Given the description of an element on the screen output the (x, y) to click on. 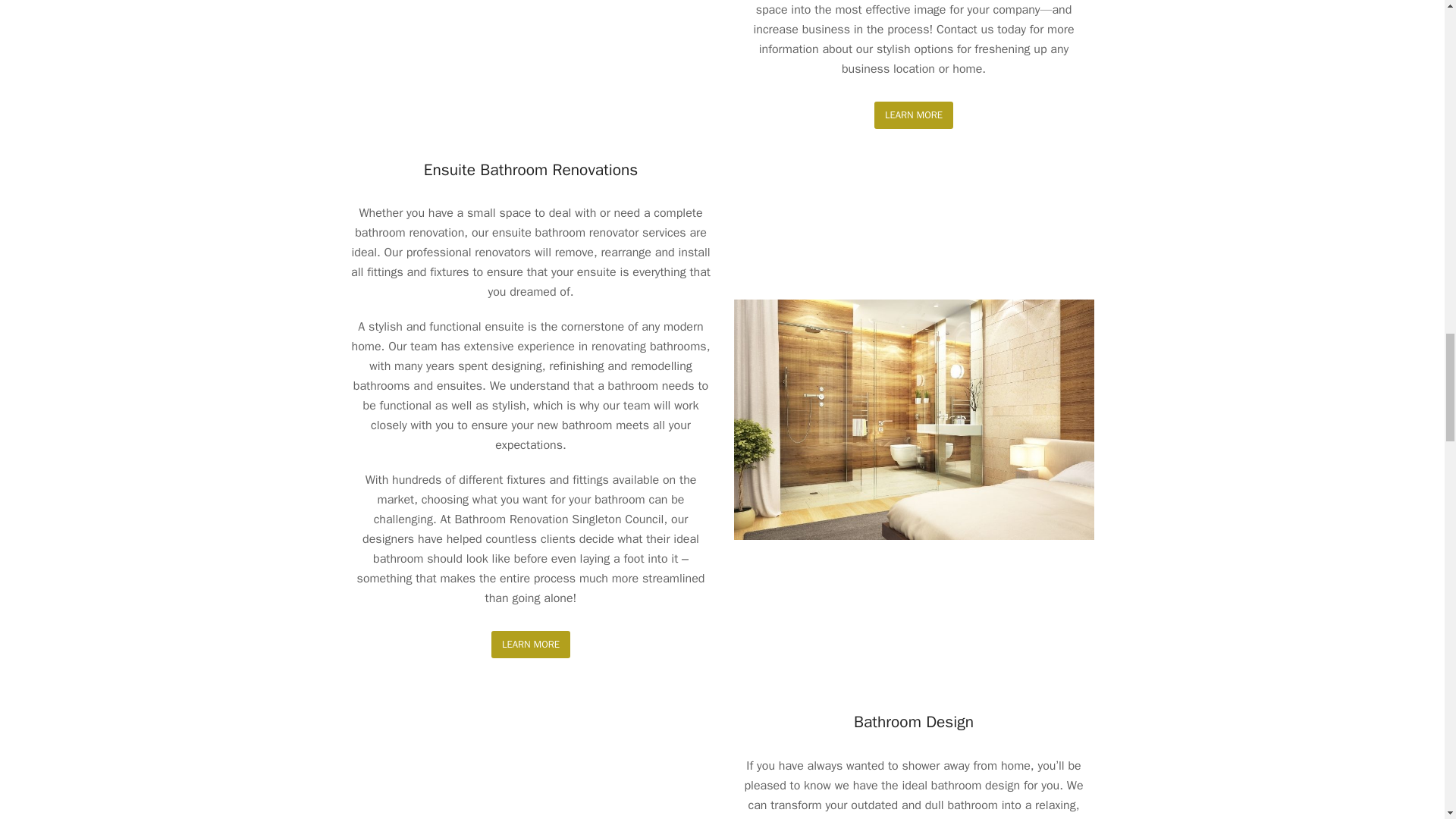
Learn more (531, 643)
newcastlebathroomrenovation (913, 419)
Learn more (914, 114)
